Given the description of an element on the screen output the (x, y) to click on. 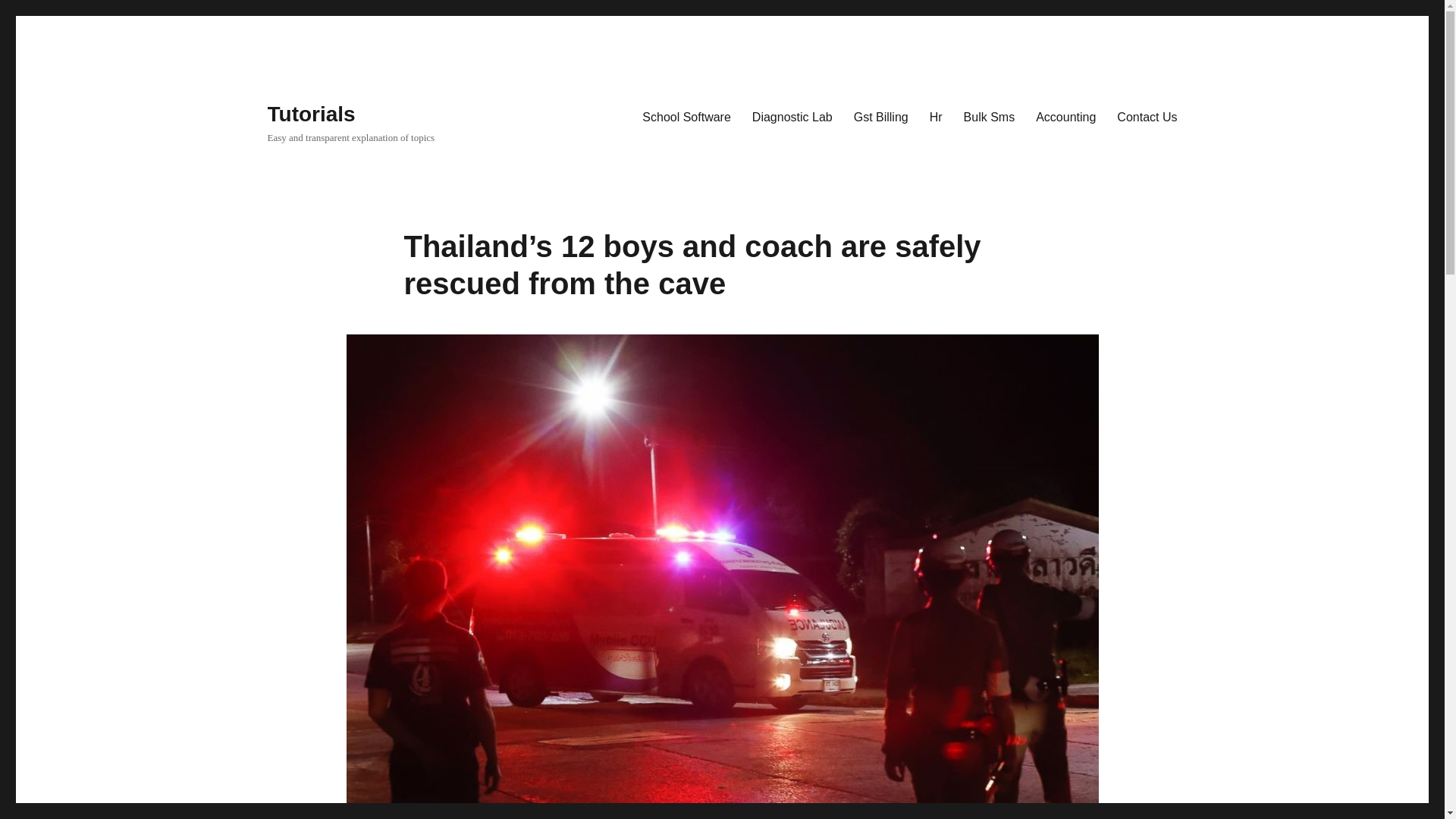
Hr (935, 116)
School Software (686, 116)
Tutorials (310, 114)
Contact Us (1147, 116)
Gst Billing (880, 116)
Bulk Sms (989, 116)
Accounting (1065, 116)
Diagnostic Lab (792, 116)
